Given the description of an element on the screen output the (x, y) to click on. 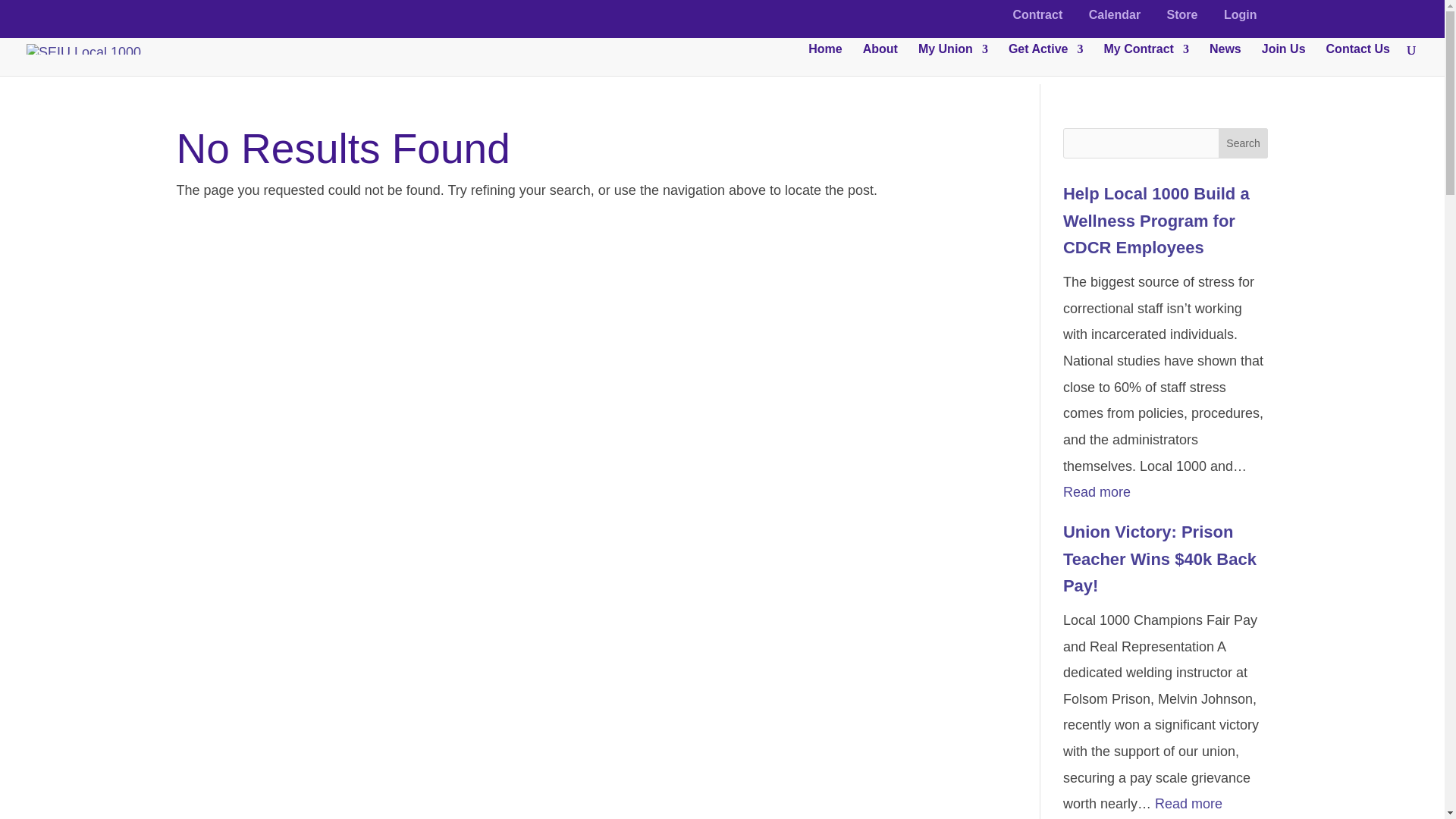
Calendar (1114, 19)
Home (824, 60)
Get Active (1046, 60)
Store (1182, 19)
My Union (953, 60)
News (1225, 60)
Login (1240, 19)
My Contract (1145, 60)
About (880, 60)
Contract (1036, 19)
